Given the description of an element on the screen output the (x, y) to click on. 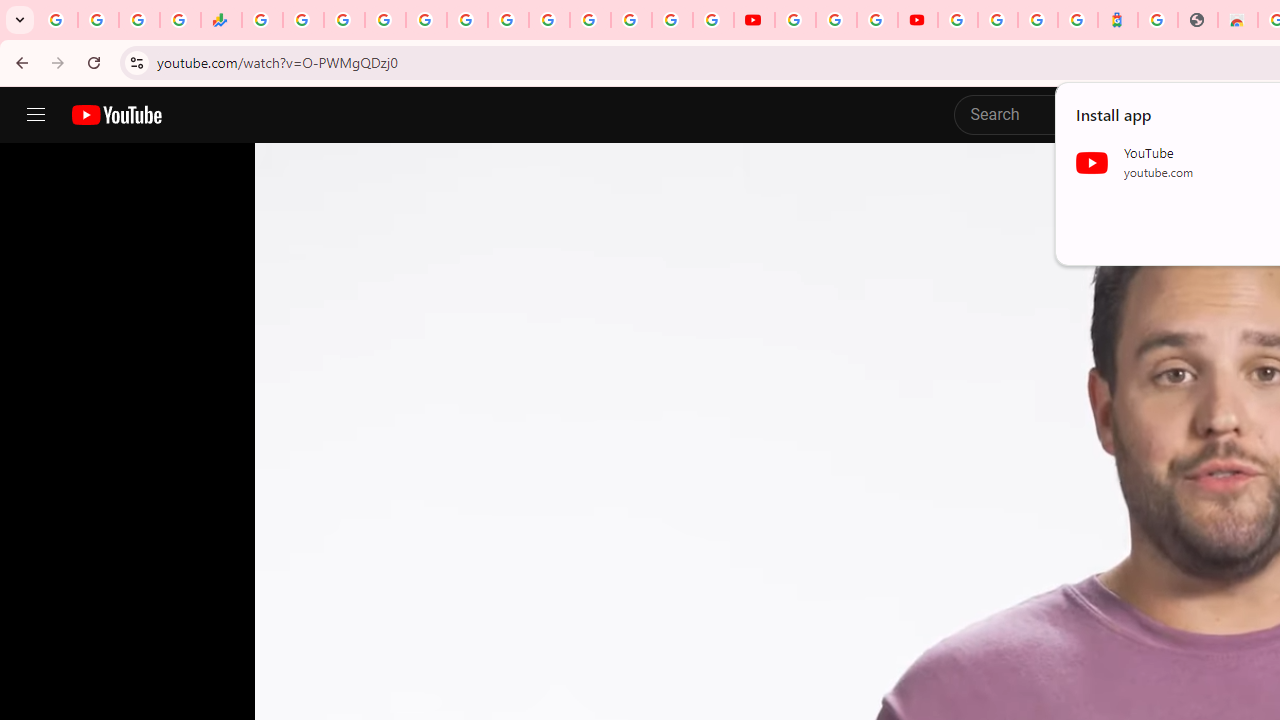
YouTube (548, 20)
Atour Hotel - Google hotels (1117, 20)
Guide (35, 115)
YouTube (795, 20)
YouTube Home (116, 115)
Chrome Web Store - Household (1238, 20)
Google Workspace Admin Community (57, 20)
Content Creator Programs & Opportunities - YouTube Creators (918, 20)
